Given the description of an element on the screen output the (x, y) to click on. 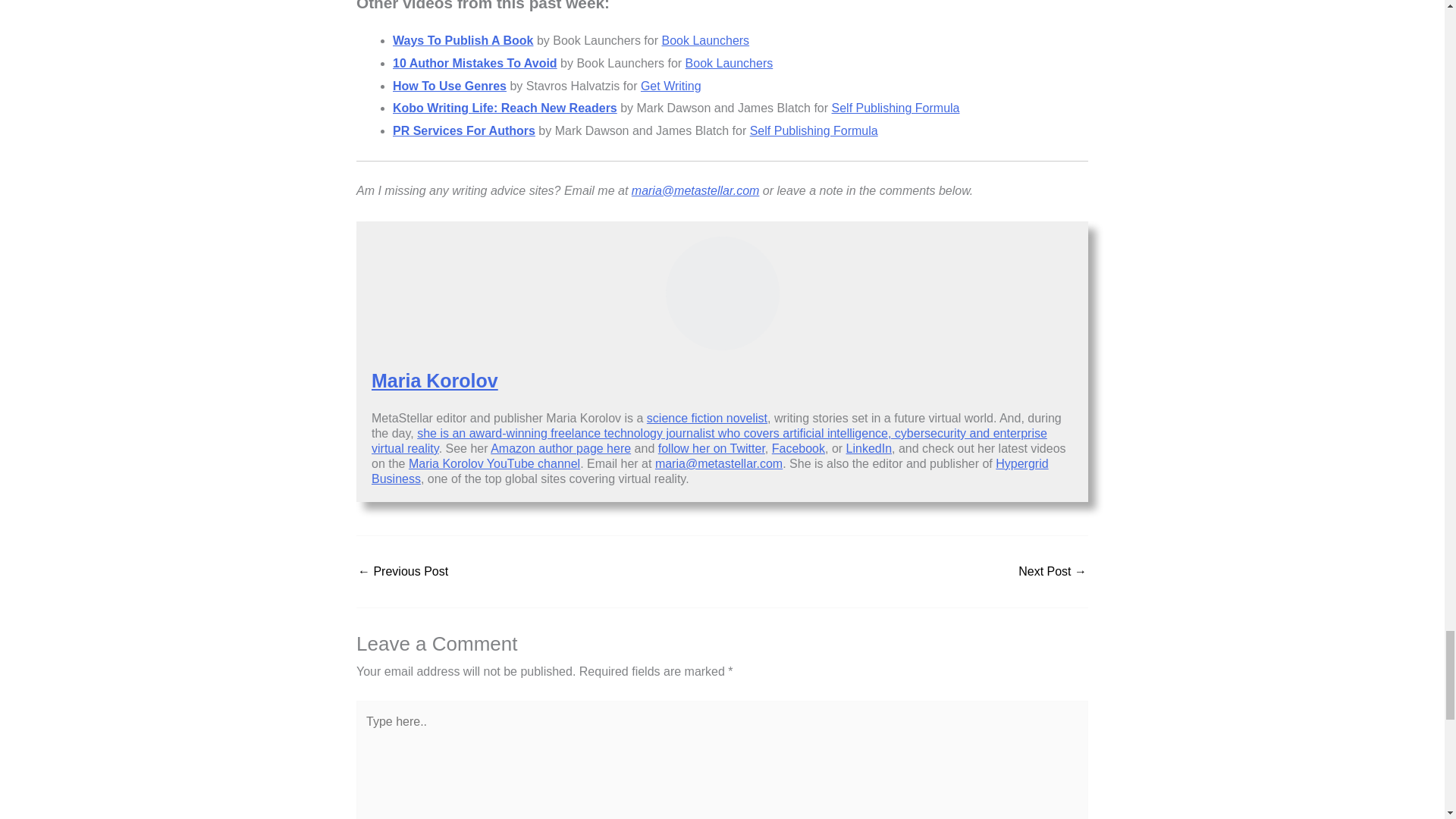
Drive, It Said (1051, 571)
